Given the description of an element on the screen output the (x, y) to click on. 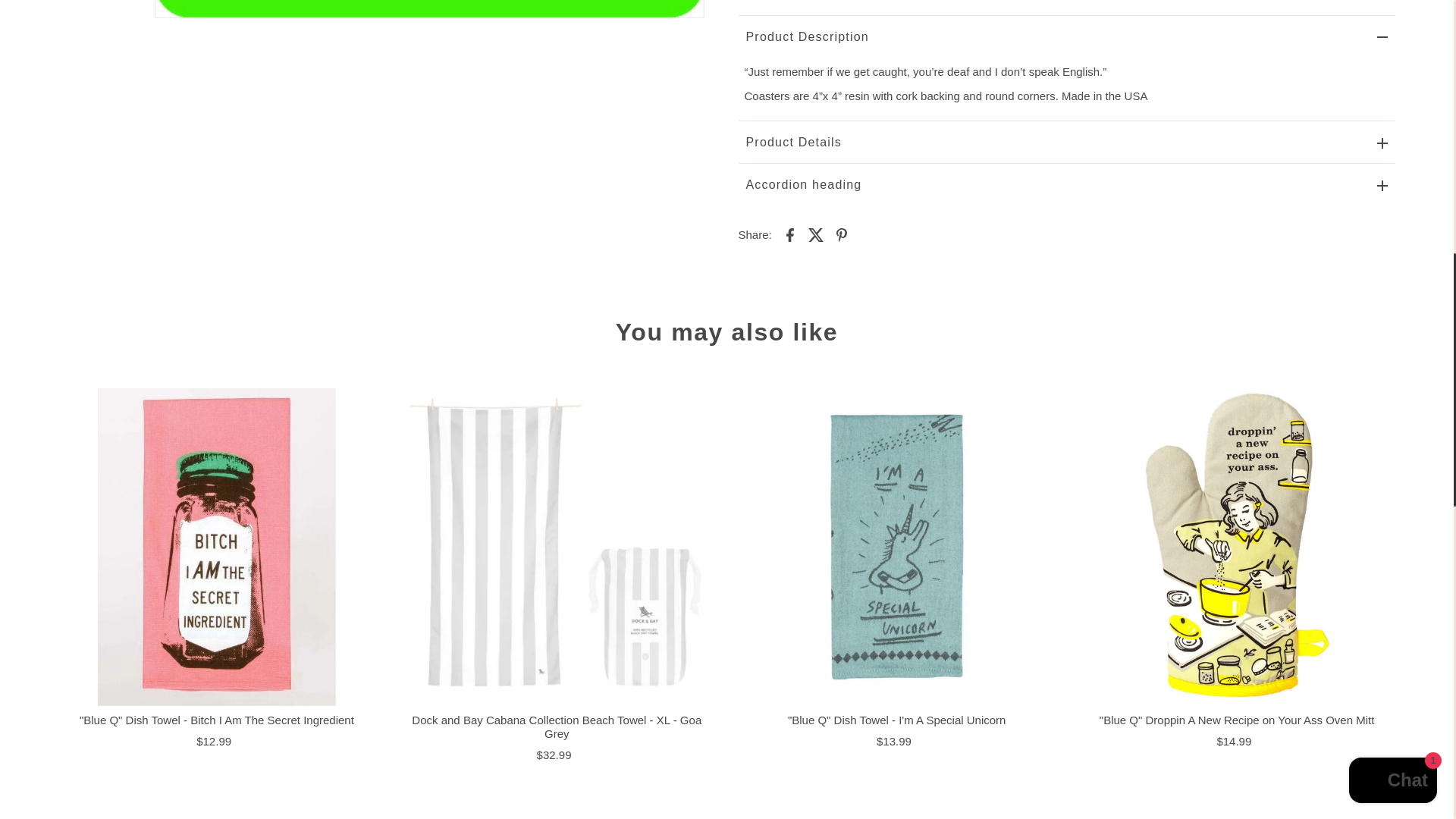
Dock and Bay Cabana Collection Beach Towel - XL - Goa Grey (555, 546)
"Blue Q" Droppin A New Recipe on Your Ass Oven Mitt (1236, 546)
Share on Twitter (816, 233)
"Blue Q" Dish Towel - I'm A Special Unicorn (896, 546)
"Blue Q" Dish Towel - Bitch I Am The Secret Ingredient (216, 546)
Share on Pinterest (841, 233)
Share on Facebook (790, 233)
